Given the description of an element on the screen output the (x, y) to click on. 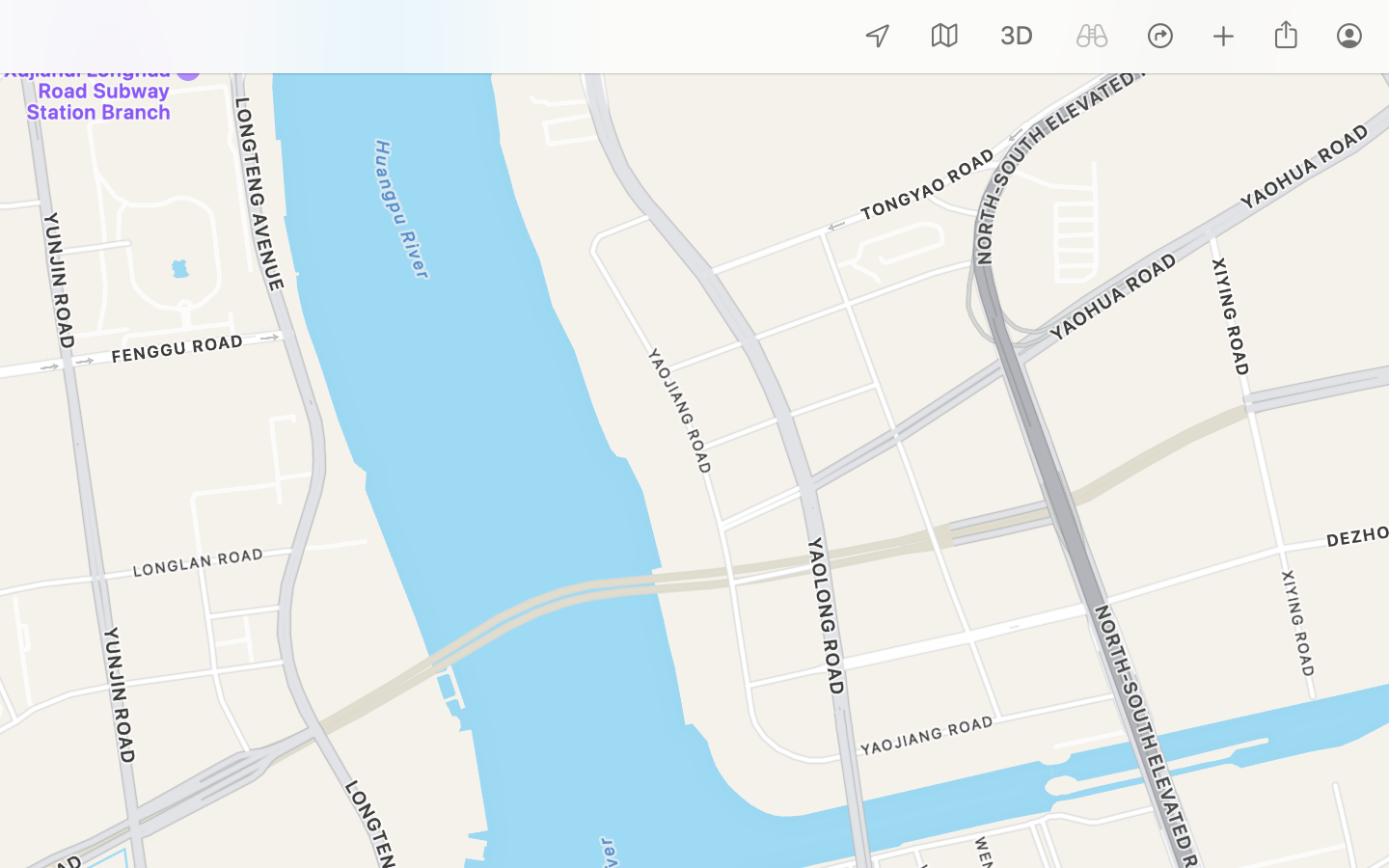
0 Element type: AXCheckBox (1016, 36)
